Given the description of an element on the screen output the (x, y) to click on. 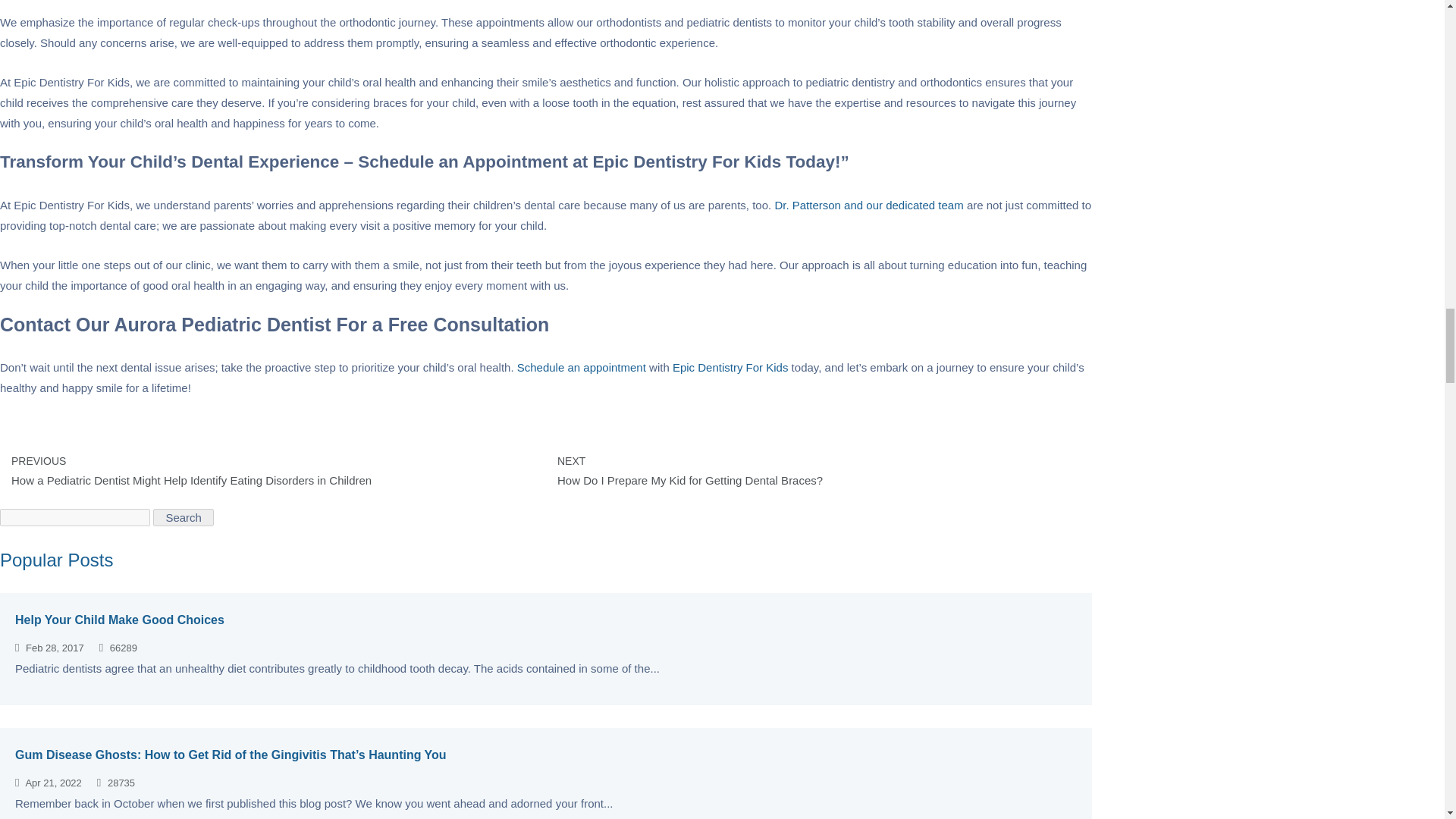
Search (183, 517)
